Given the description of an element on the screen output the (x, y) to click on. 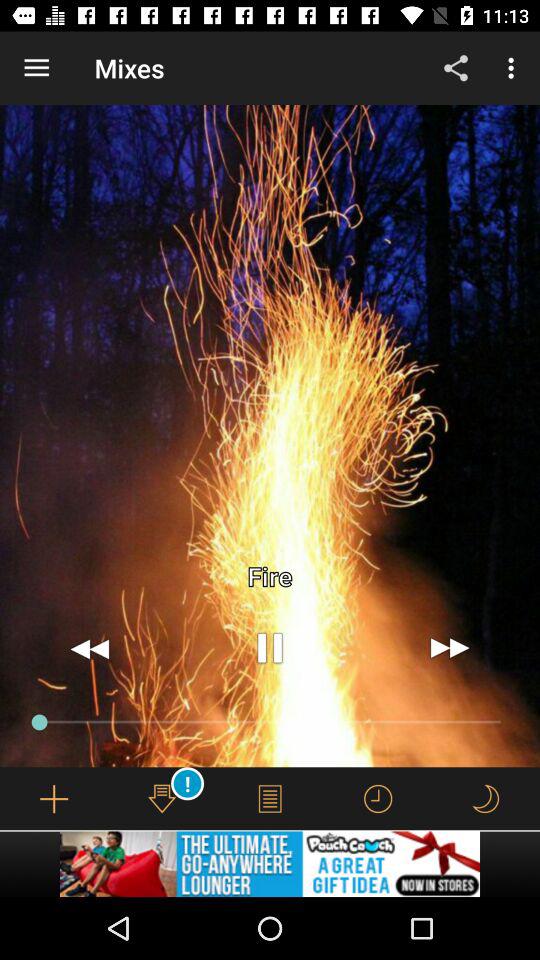
enable night mode (485, 798)
